Given the description of an element on the screen output the (x, y) to click on. 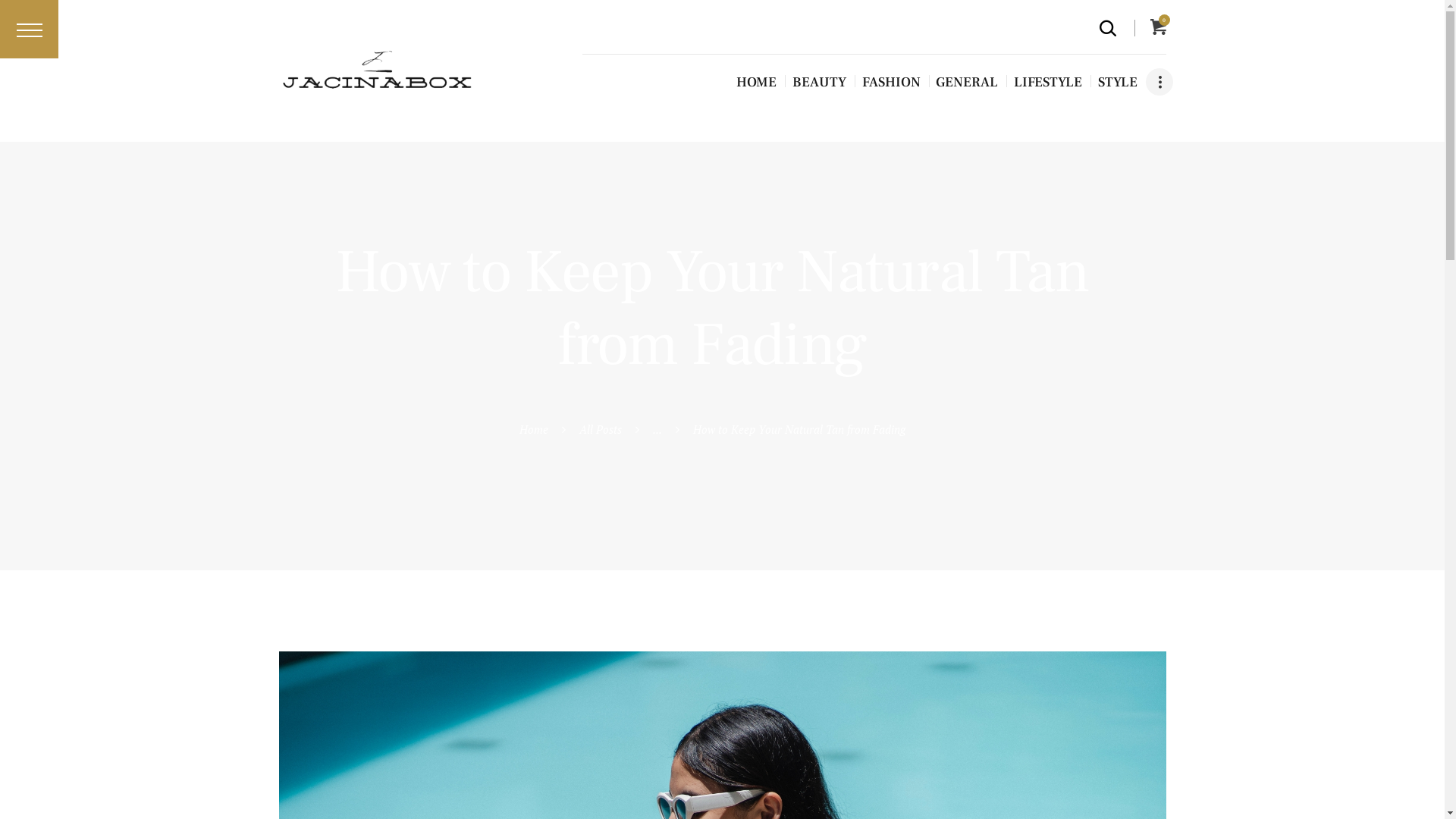
FASHION Element type: text (891, 82)
STYLE Element type: text (1117, 82)
BEAUTY Element type: text (819, 82)
Home Element type: text (532, 428)
GENERAL Element type: text (966, 82)
LIFESTYLE Element type: text (1047, 82)
All Posts Element type: text (600, 428)
HOME Element type: text (756, 82)
